Given the description of an element on the screen output the (x, y) to click on. 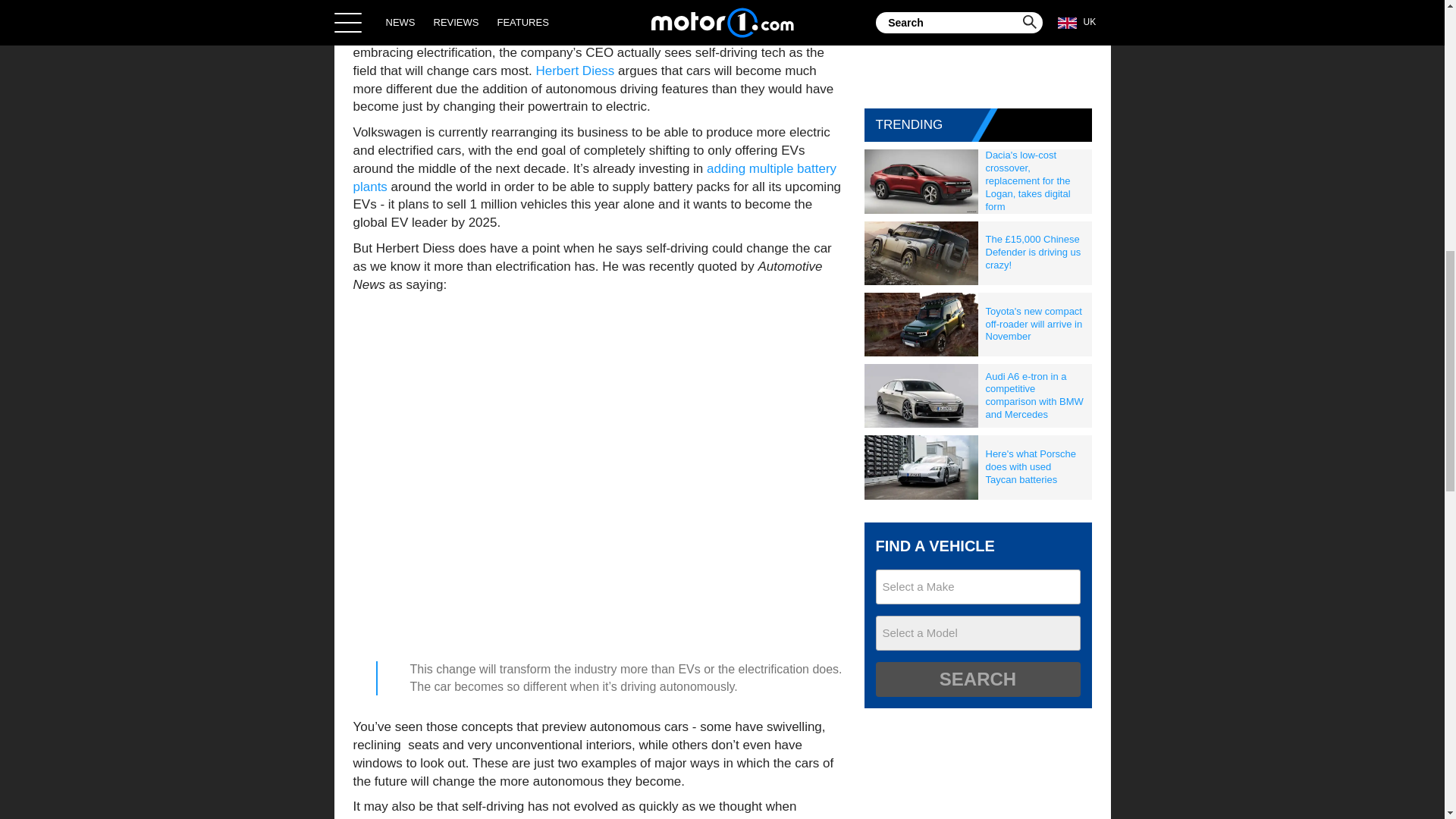
Search (977, 678)
Toyota's new compact off-roader will arrive in November (1035, 324)
Volkswagen (565, 34)
Herbert Diess (574, 70)
adding multiple battery plants (595, 177)
